Given the description of an element on the screen output the (x, y) to click on. 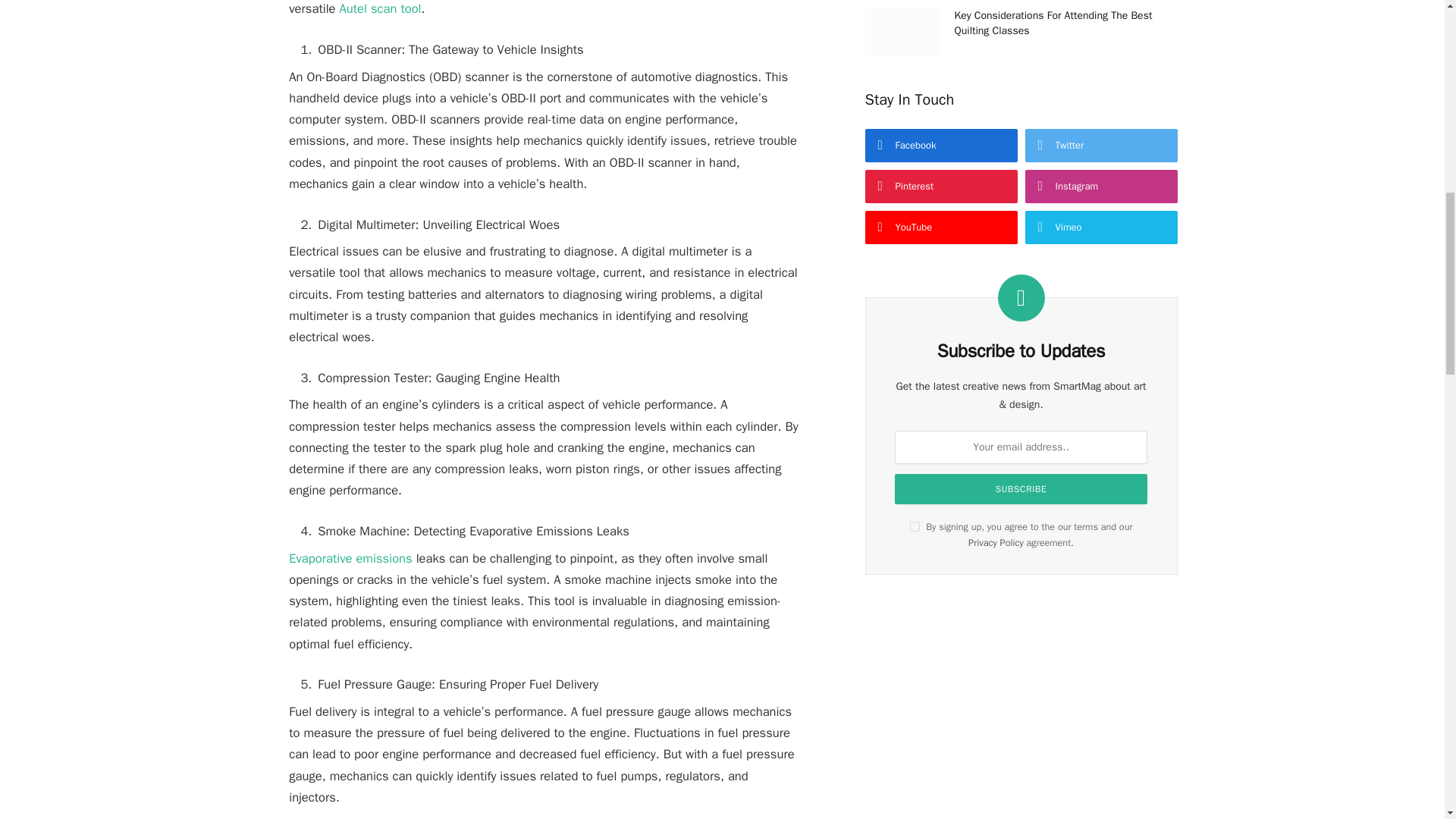
Subscribe (1021, 489)
on (915, 526)
